Given the description of an element on the screen output the (x, y) to click on. 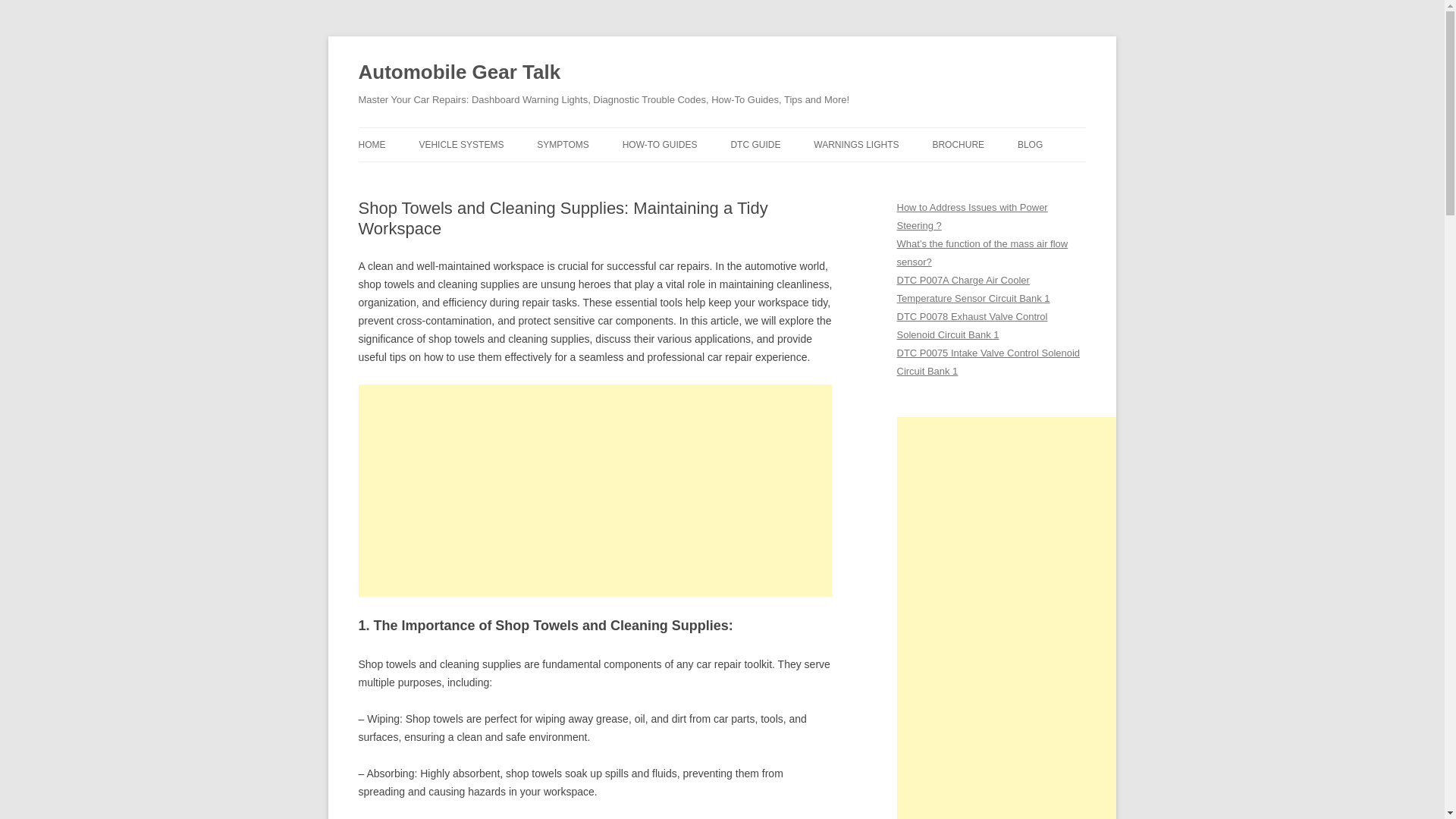
SYMPTOMS (562, 144)
WARNINGS LIGHTS (855, 144)
Automobile Gear Talk (459, 72)
HOW-TO GUIDES (660, 144)
Advertisement (594, 490)
DTC P0078 Exhaust Valve Control Solenoid Circuit Bank 1 (971, 325)
DTC P0075 Intake Valve Control Solenoid Circuit Bank 1 (988, 361)
How to Address Issues with Power Steering ? (971, 215)
BROCHURE (957, 144)
VEHICLE SYSTEMS (461, 144)
DTC GUIDE (755, 144)
